Given the description of an element on the screen output the (x, y) to click on. 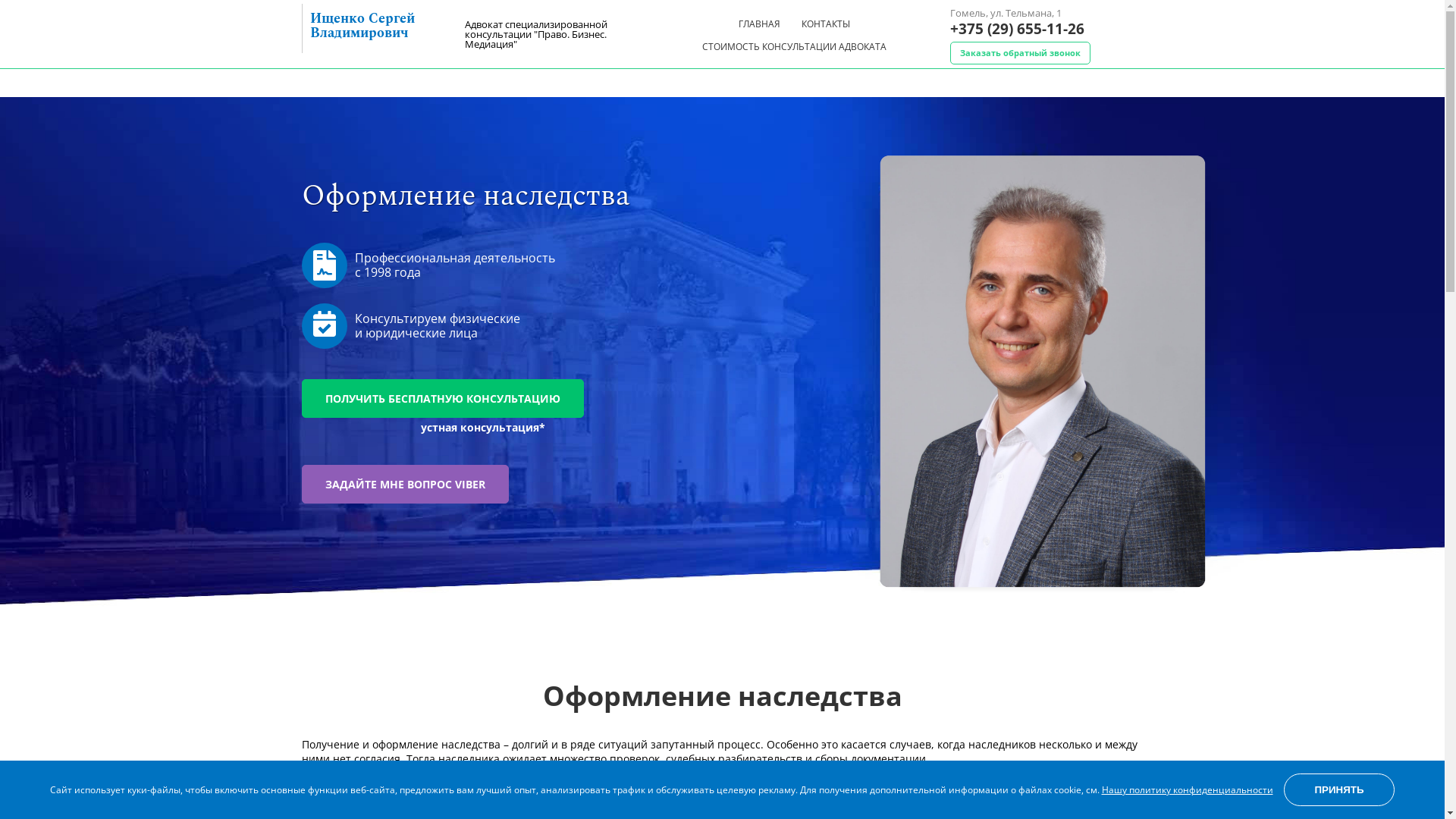
+375 (29) 655-11-26 Element type: text (1016, 28)
